Given the description of an element on the screen output the (x, y) to click on. 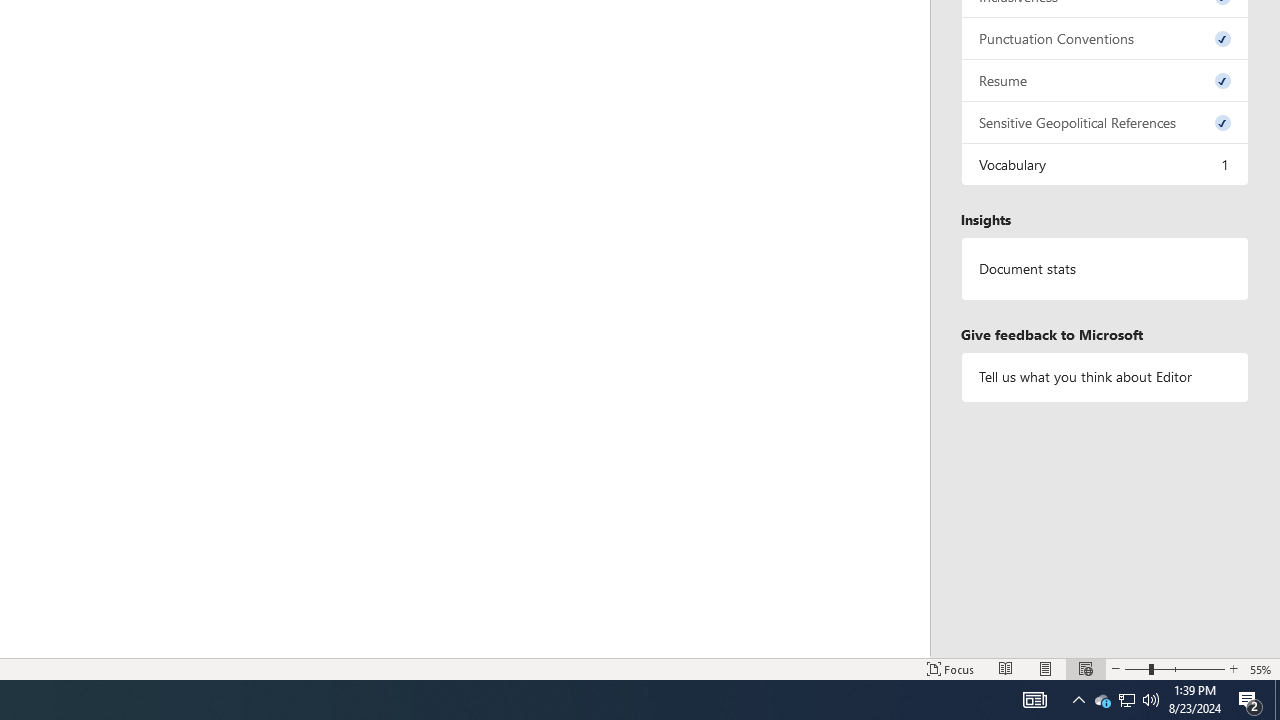
Resume, 0 issues. Press space or enter to review items. (1105, 79)
Zoom 55% (1261, 668)
Vocabulary, 1 issue. Press space or enter to review items. (1105, 164)
Document statistics (1105, 269)
Tell us what you think about Editor (1105, 376)
